Given the description of an element on the screen output the (x, y) to click on. 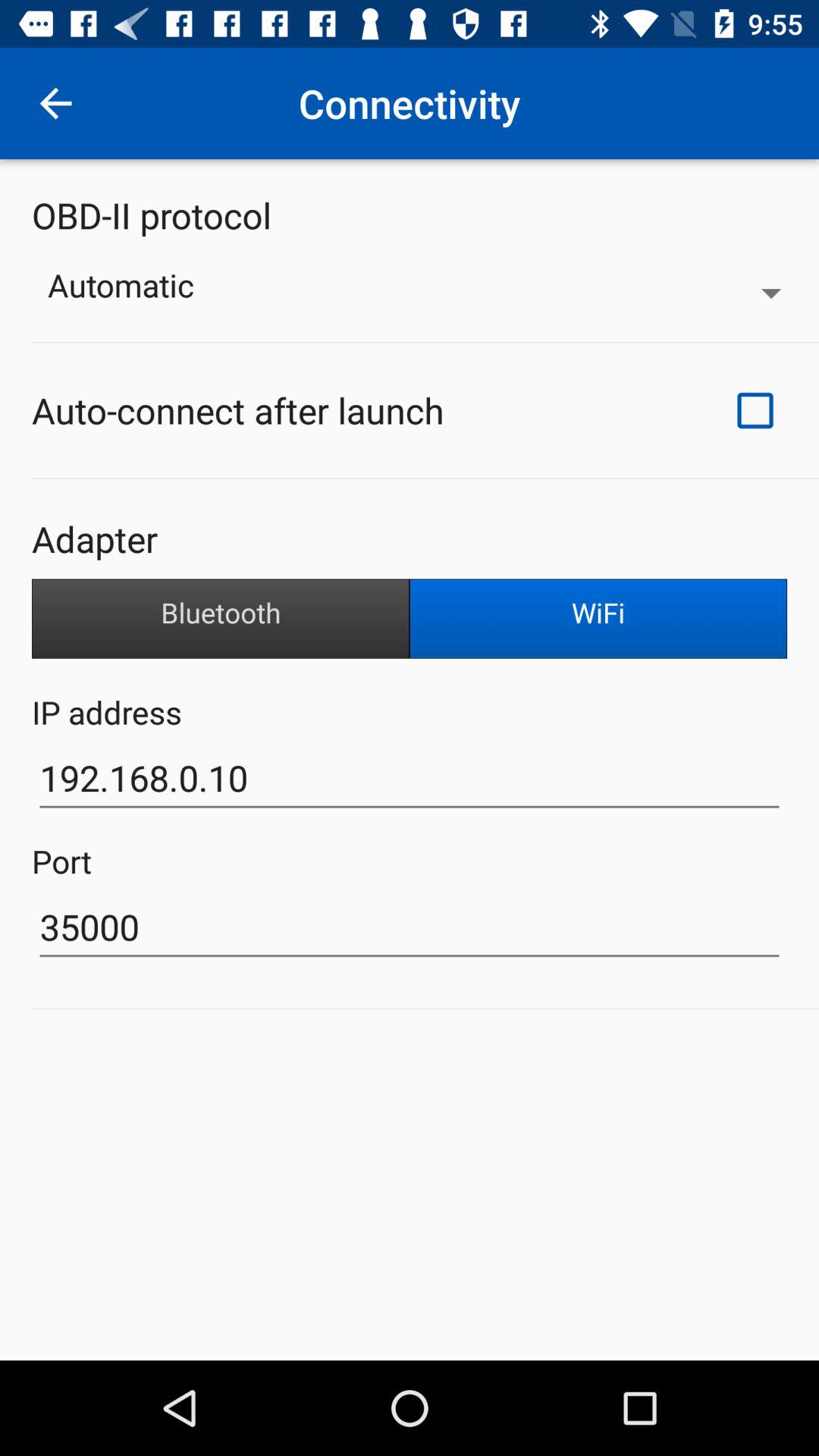
autoconnect checkbox (755, 410)
